Given the description of an element on the screen output the (x, y) to click on. 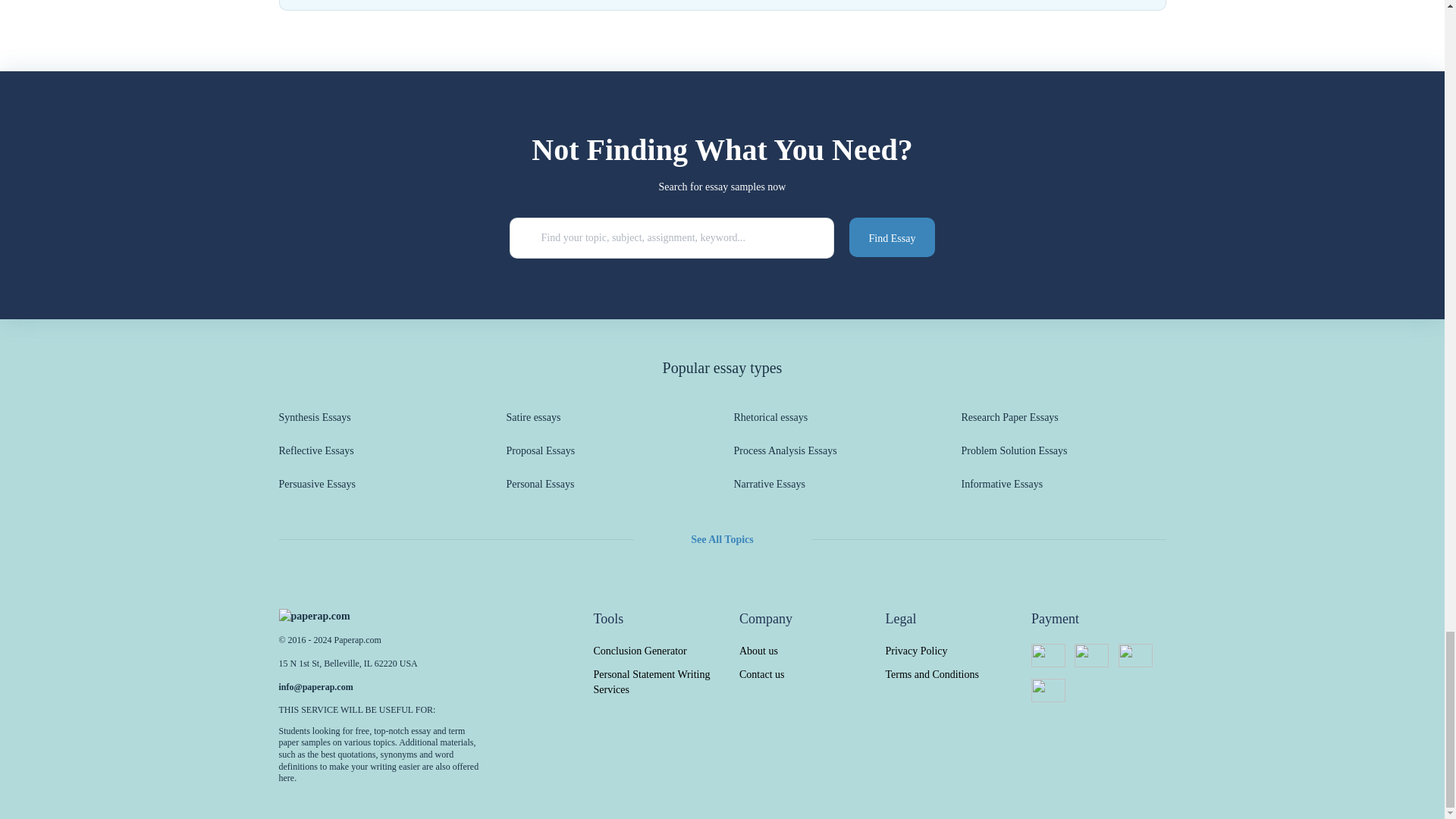
Find Essay (892, 237)
